Given the description of an element on the screen output the (x, y) to click on. 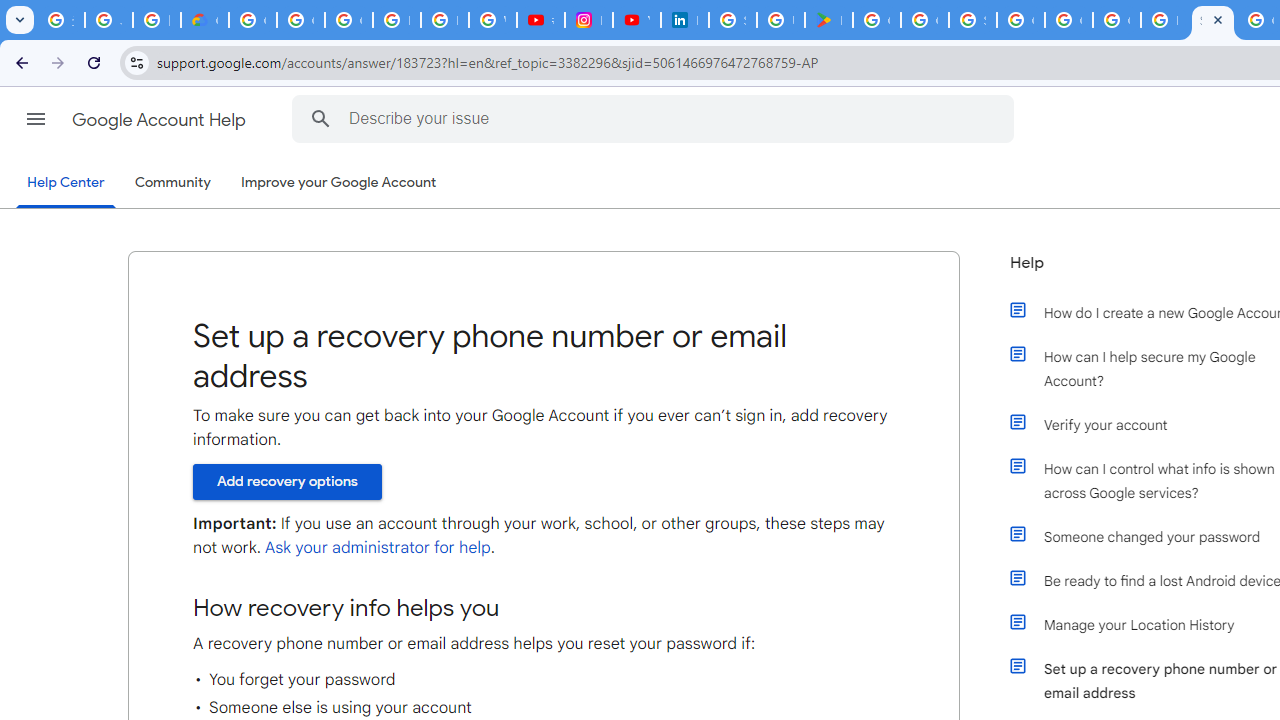
Google Cloud Platform (1020, 20)
Sign in - Google Accounts (972, 20)
